Given the description of an element on the screen output the (x, y) to click on. 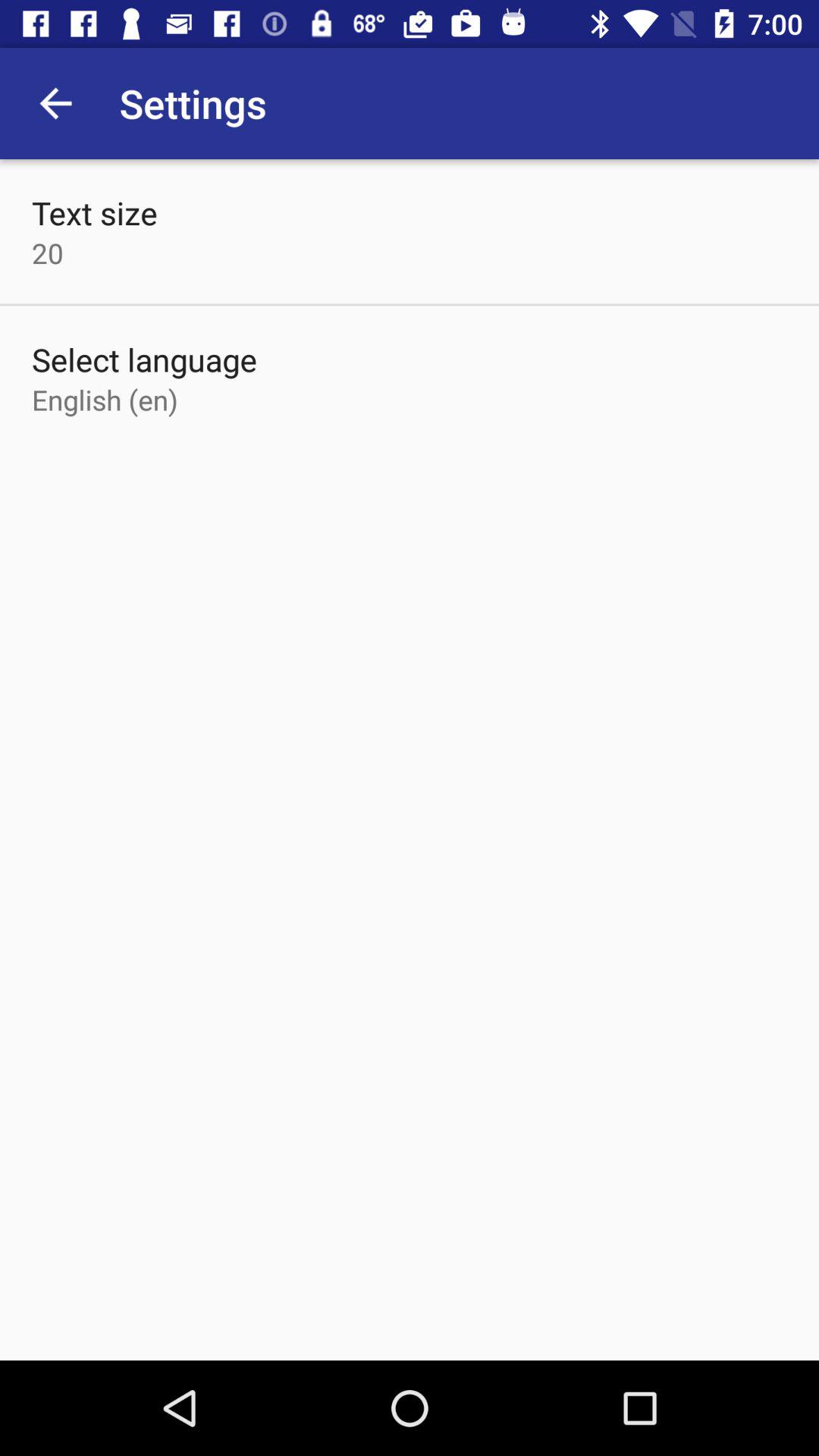
choose the item below the select language item (104, 399)
